Given the description of an element on the screen output the (x, y) to click on. 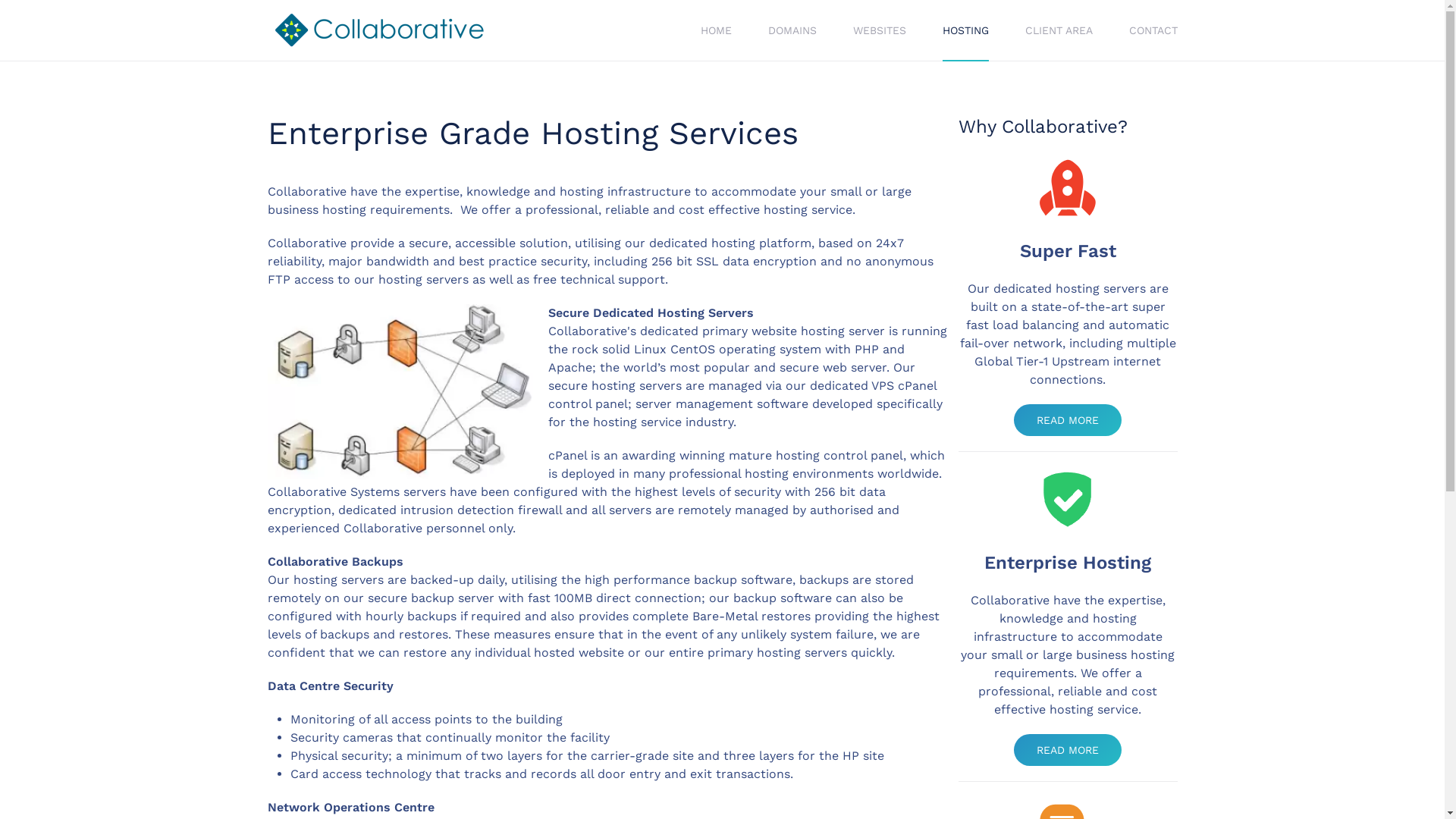
DOMAINS Element type: text (791, 30)
READ MORE Element type: text (1067, 420)
READ MORE Element type: text (1067, 749)
HOSTING Element type: text (964, 30)
CONTACT Element type: text (1152, 30)
CLIENT AREA Element type: text (1058, 30)
HOME Element type: text (715, 30)
WEBSITES Element type: text (878, 30)
